Given the description of an element on the screen output the (x, y) to click on. 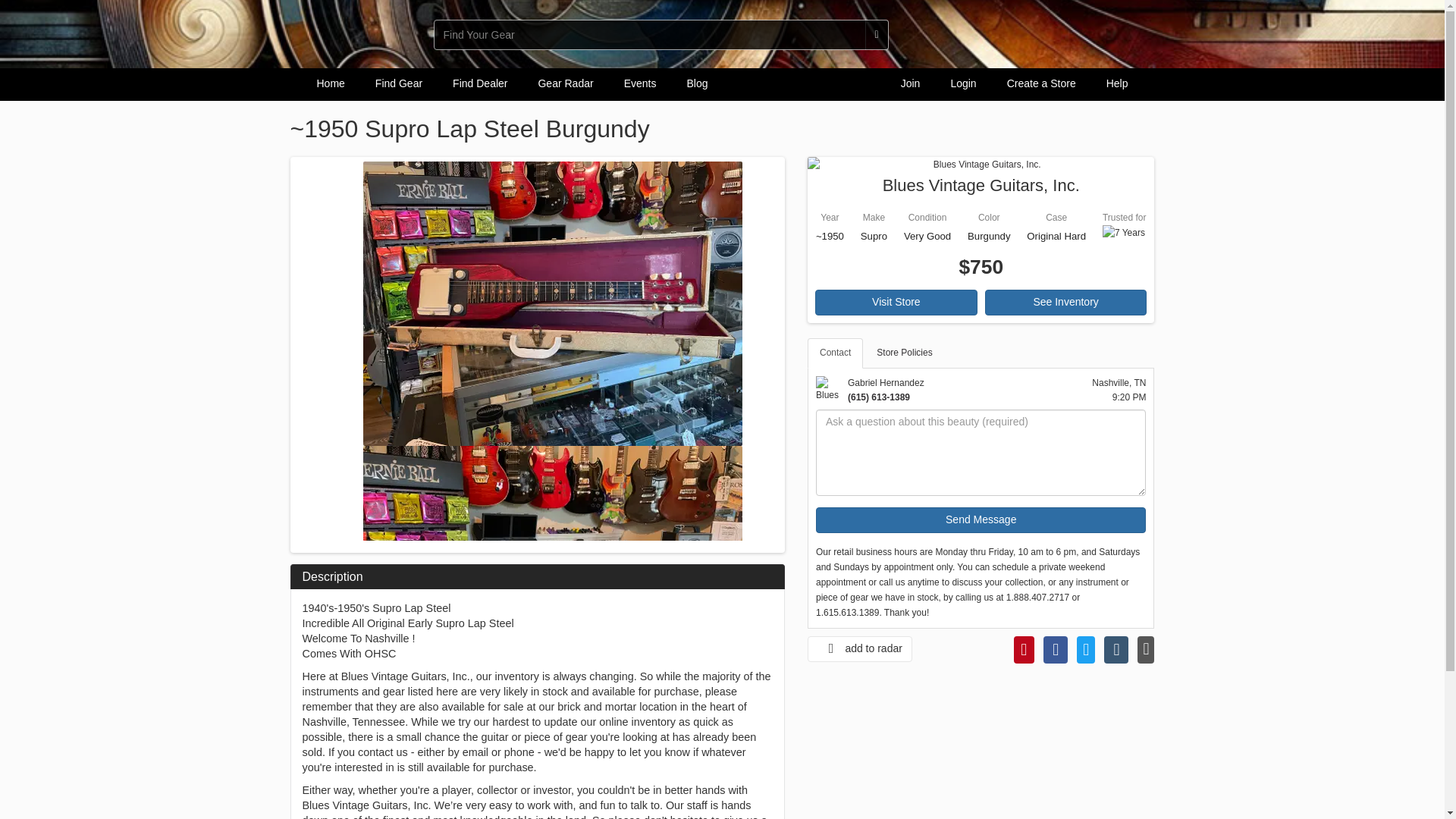
Home (330, 83)
Store Policies (903, 352)
See Inventory (1066, 302)
Events (639, 83)
Login (962, 83)
Contact (835, 352)
Find Gear (398, 83)
Send Message (981, 519)
Gear Radar (565, 83)
Blog (696, 83)
Create a Store (1040, 83)
Find Dealer (480, 83)
Join (910, 83)
Help (1116, 83)
Visit Store (895, 302)
